Given the description of an element on the screen output the (x, y) to click on. 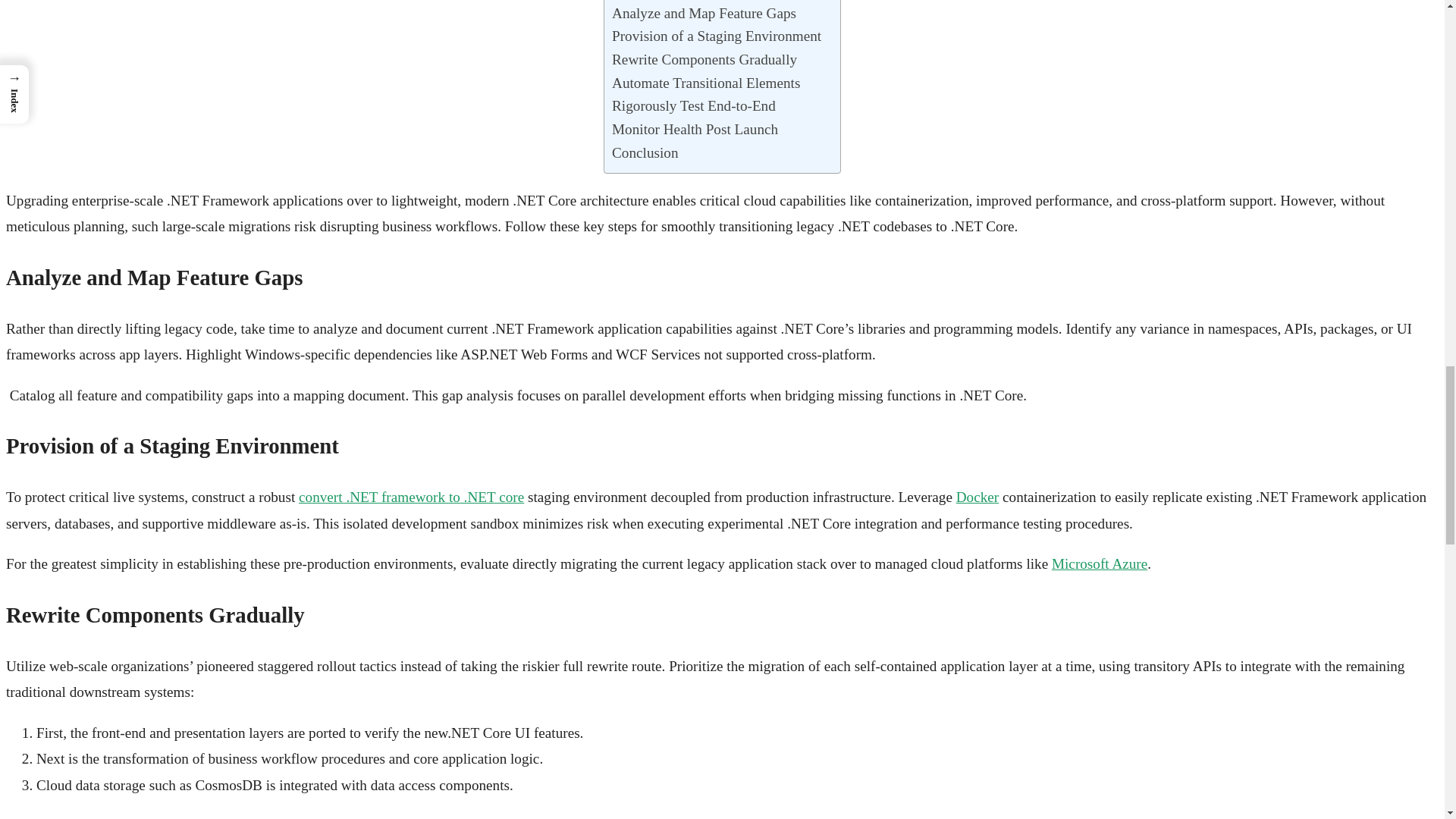
Analyze and Map Feature Gaps (703, 13)
Conclusion (644, 153)
Automate Transitional Elements (705, 83)
Rigorously Test End-to-End (693, 106)
Rewrite Components Gradually (703, 60)
